Given the description of an element on the screen output the (x, y) to click on. 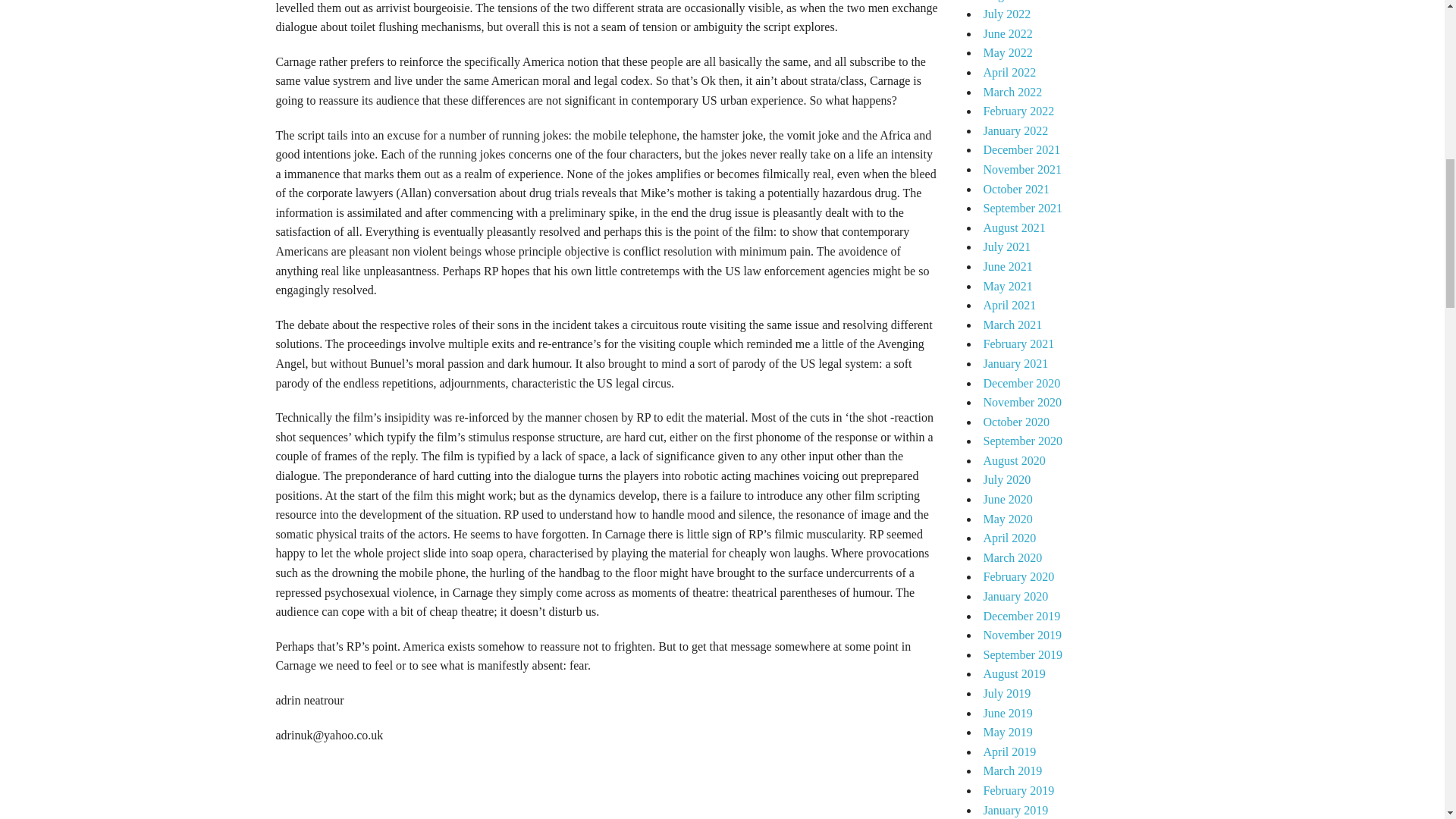
August 2022 (1013, 0)
